Given the description of an element on the screen output the (x, y) to click on. 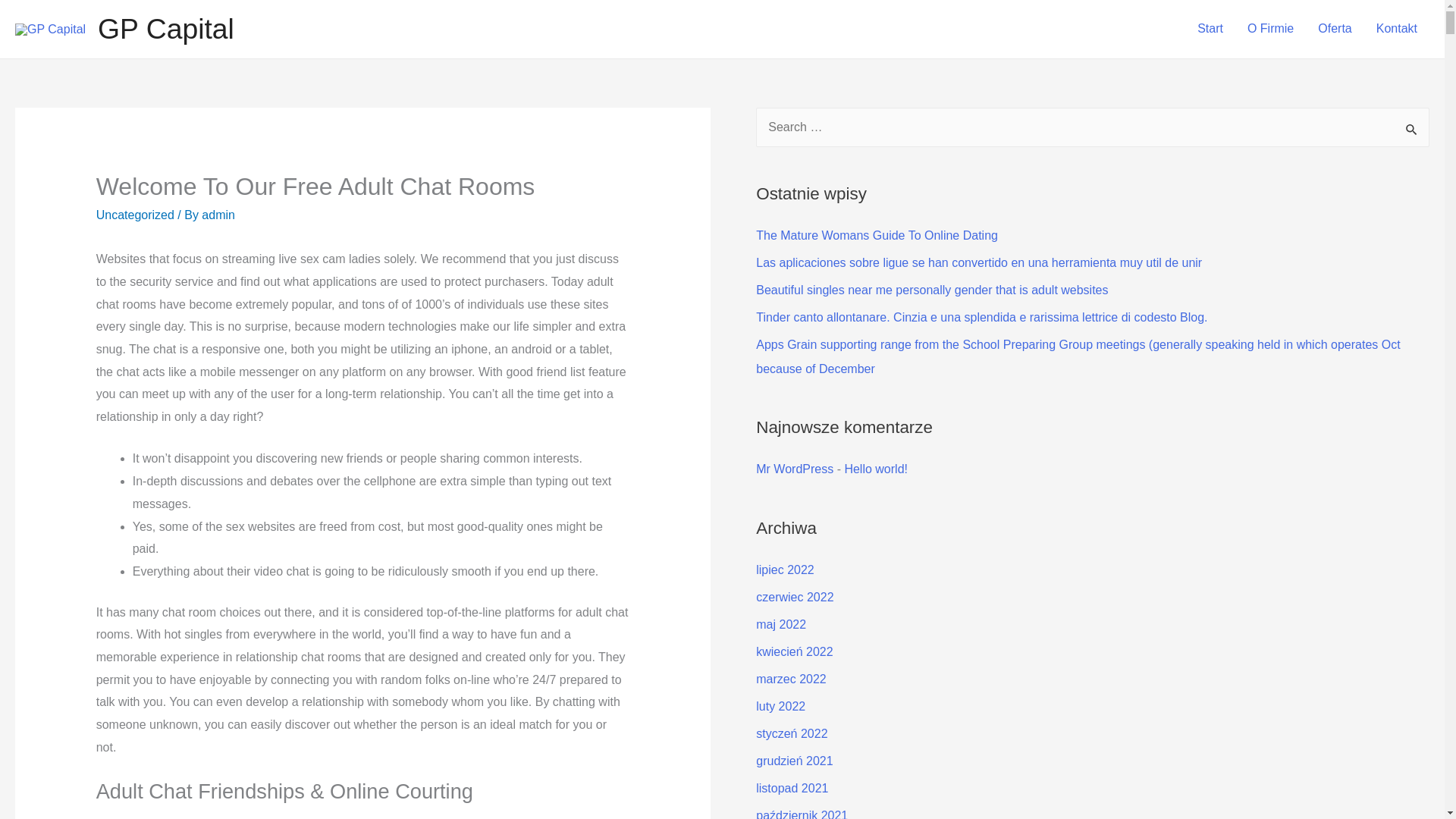
Oferta (1334, 28)
Uncategorized (135, 214)
lipiec 2022 (784, 569)
View all posts by admin (218, 214)
listopad 2021 (791, 788)
admin (218, 214)
Kontakt (1396, 28)
Mr WordPress (793, 468)
Start (1209, 28)
Hello world! (875, 468)
GP Capital (165, 29)
maj 2022 (780, 624)
